Given the description of an element on the screen output the (x, y) to click on. 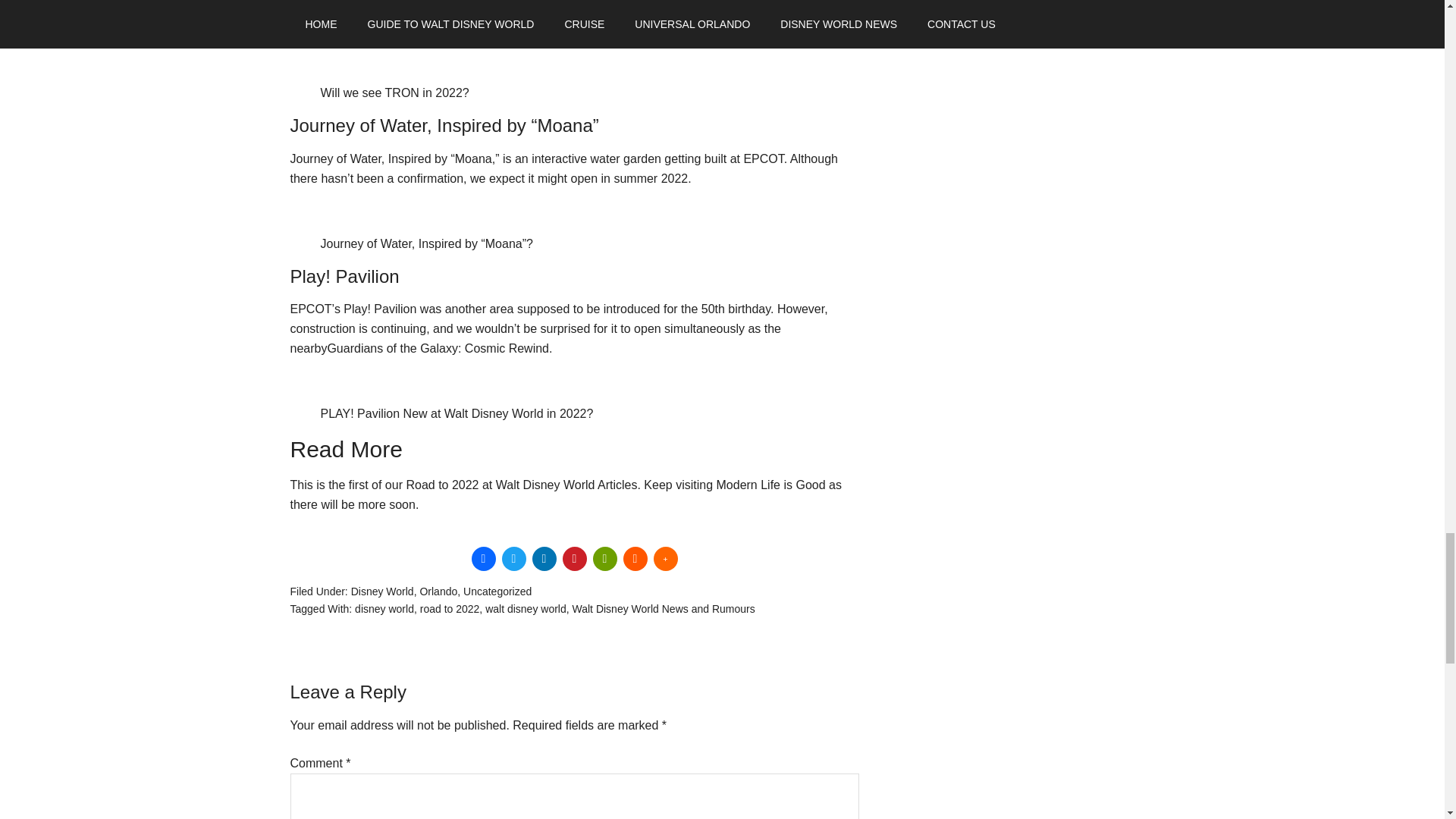
Print this article  (604, 558)
Tweet this ! (513, 558)
Submit this to Reddit (635, 558)
Submit this to Pinterest (574, 558)
Add this to LinkedIn (544, 558)
Share this on Facebook (483, 558)
